Given the description of an element on the screen output the (x, y) to click on. 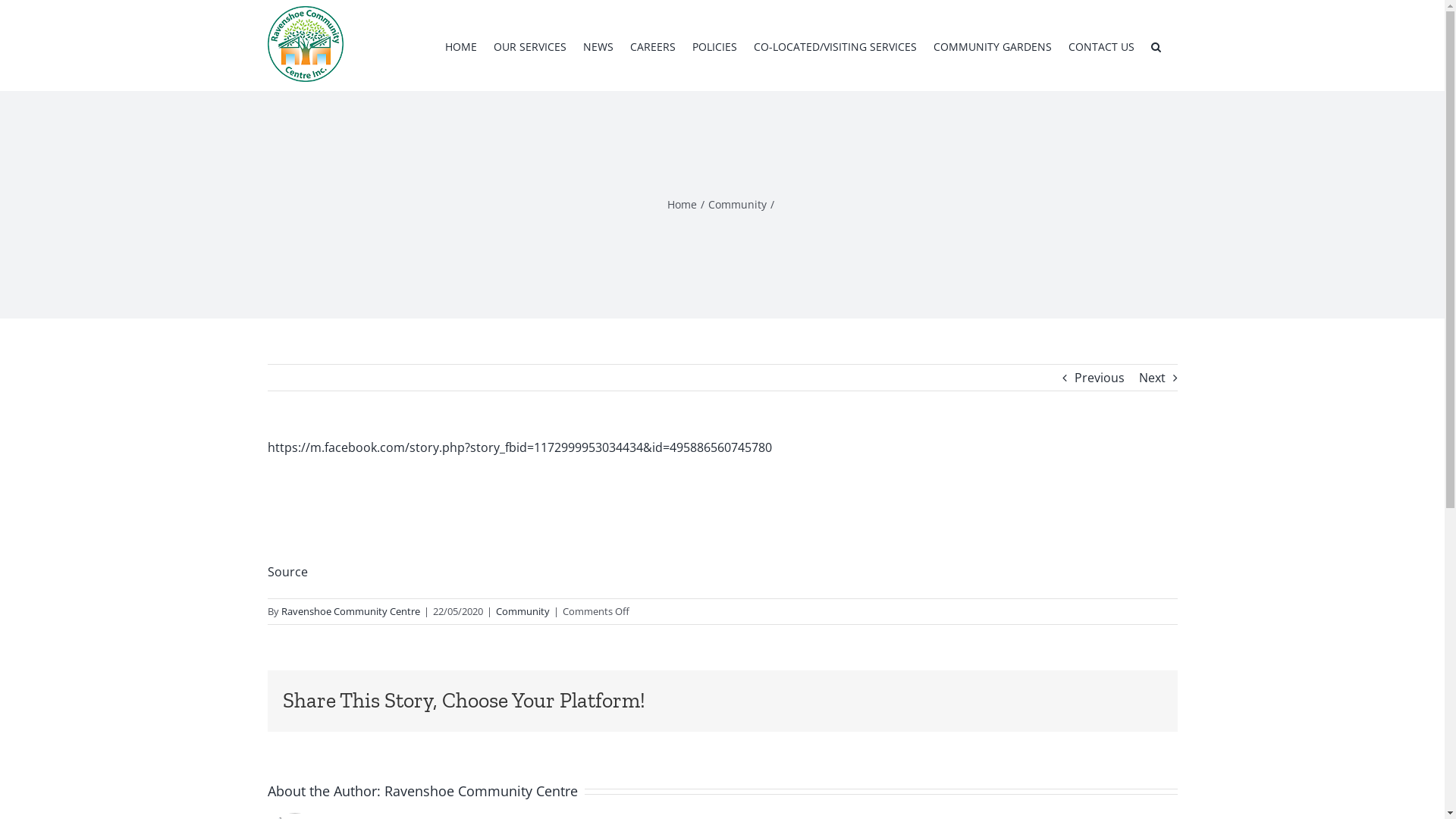
Ravenshoe Community Centre Element type: text (480, 790)
Source Element type: text (286, 571)
HOME Element type: text (460, 45)
Ravenshoe Community Centre Element type: text (349, 611)
NEWS Element type: text (597, 45)
COMMUNITY GARDENS Element type: text (991, 45)
Search Element type: hover (1156, 45)
CO-LOCATED/VISITING SERVICES Element type: text (834, 45)
CAREERS Element type: text (651, 45)
Community Element type: text (522, 611)
POLICIES Element type: text (713, 45)
Next Element type: text (1152, 377)
Home Element type: text (681, 204)
CONTACT US Element type: text (1100, 45)
Previous Element type: text (1098, 377)
Community Element type: text (737, 204)
OUR SERVICES Element type: text (528, 45)
